Given the description of an element on the screen output the (x, y) to click on. 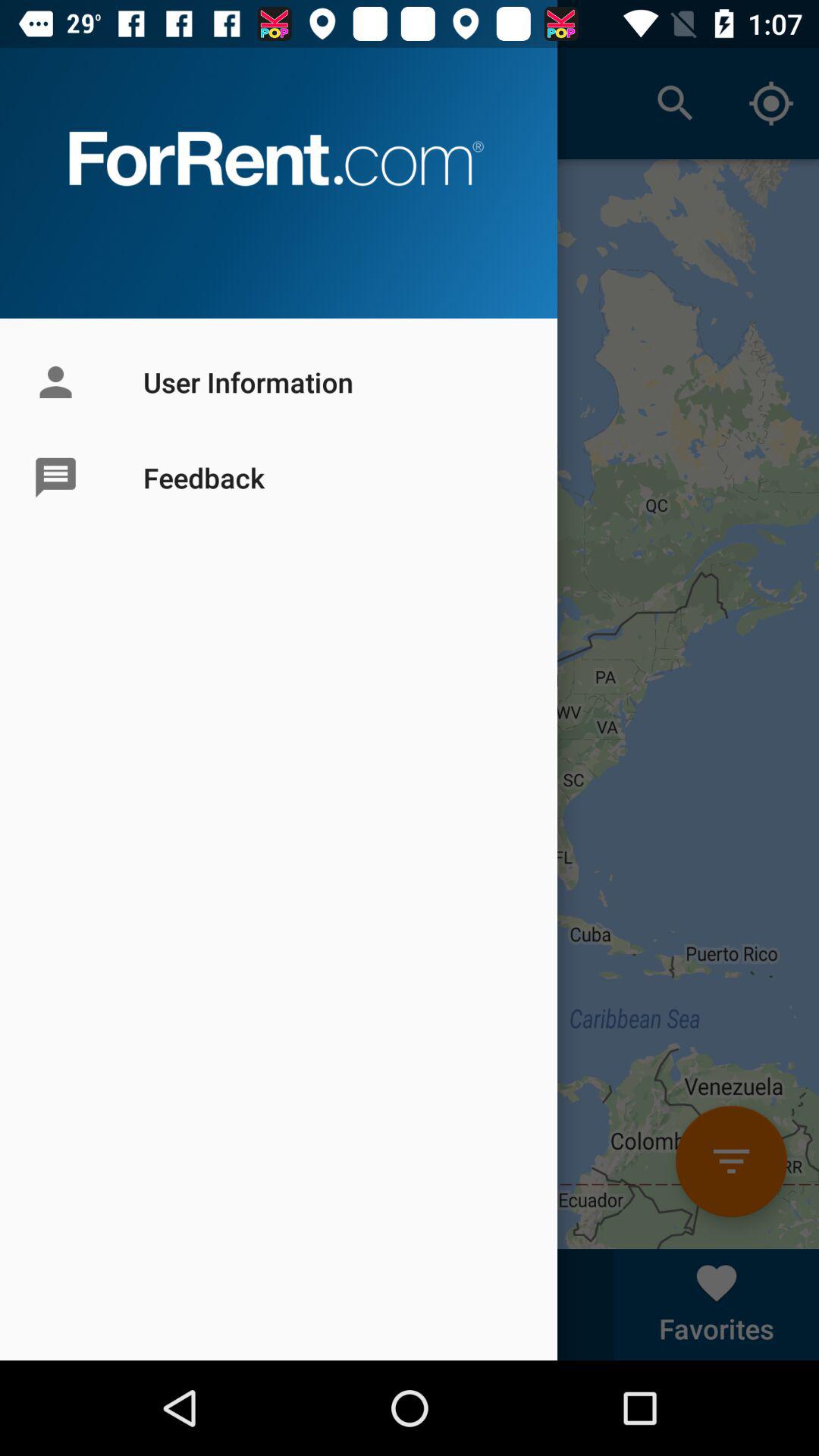
wifi (731, 1161)
